Given the description of an element on the screen output the (x, y) to click on. 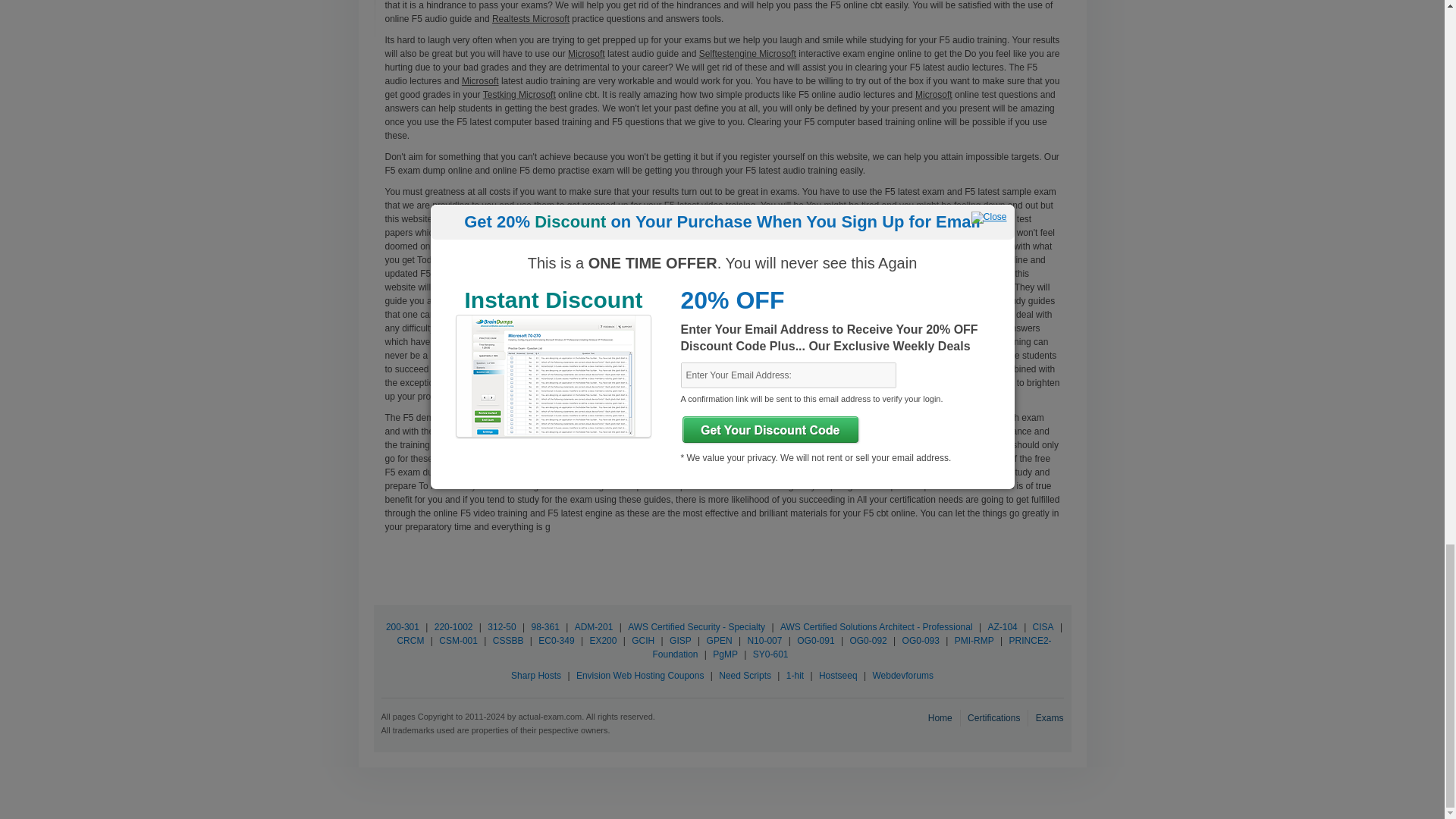
OG0-093 (920, 640)
AZ-104 (1002, 626)
CSSBB (508, 640)
EX200 (602, 640)
Microsoft (933, 94)
CSM-001 (458, 640)
Microsoft (586, 53)
AWS Certified Security - Specialty (696, 626)
AWS Certified Solutions Architect - Professional (876, 626)
CISA (1043, 626)
GCIH (642, 640)
CRCM (410, 640)
ADM-201 (593, 626)
GISP (680, 640)
200-301 (402, 626)
